Given the description of an element on the screen output the (x, y) to click on. 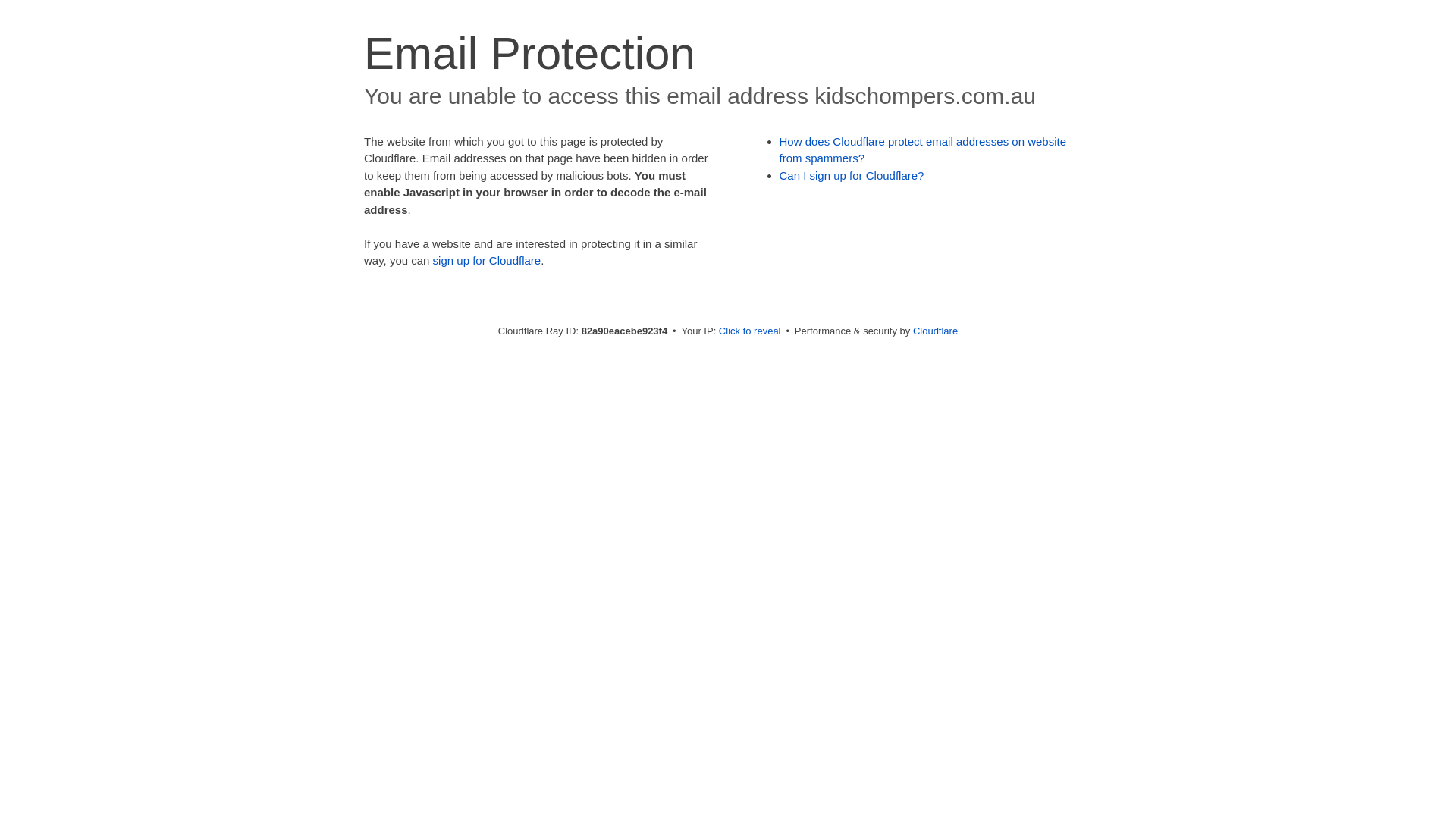
sign up for Cloudflare Element type: text (487, 260)
Click to reveal Element type: text (749, 330)
Can I sign up for Cloudflare? Element type: text (851, 175)
Cloudflare Element type: text (935, 330)
